Given the description of an element on the screen output the (x, y) to click on. 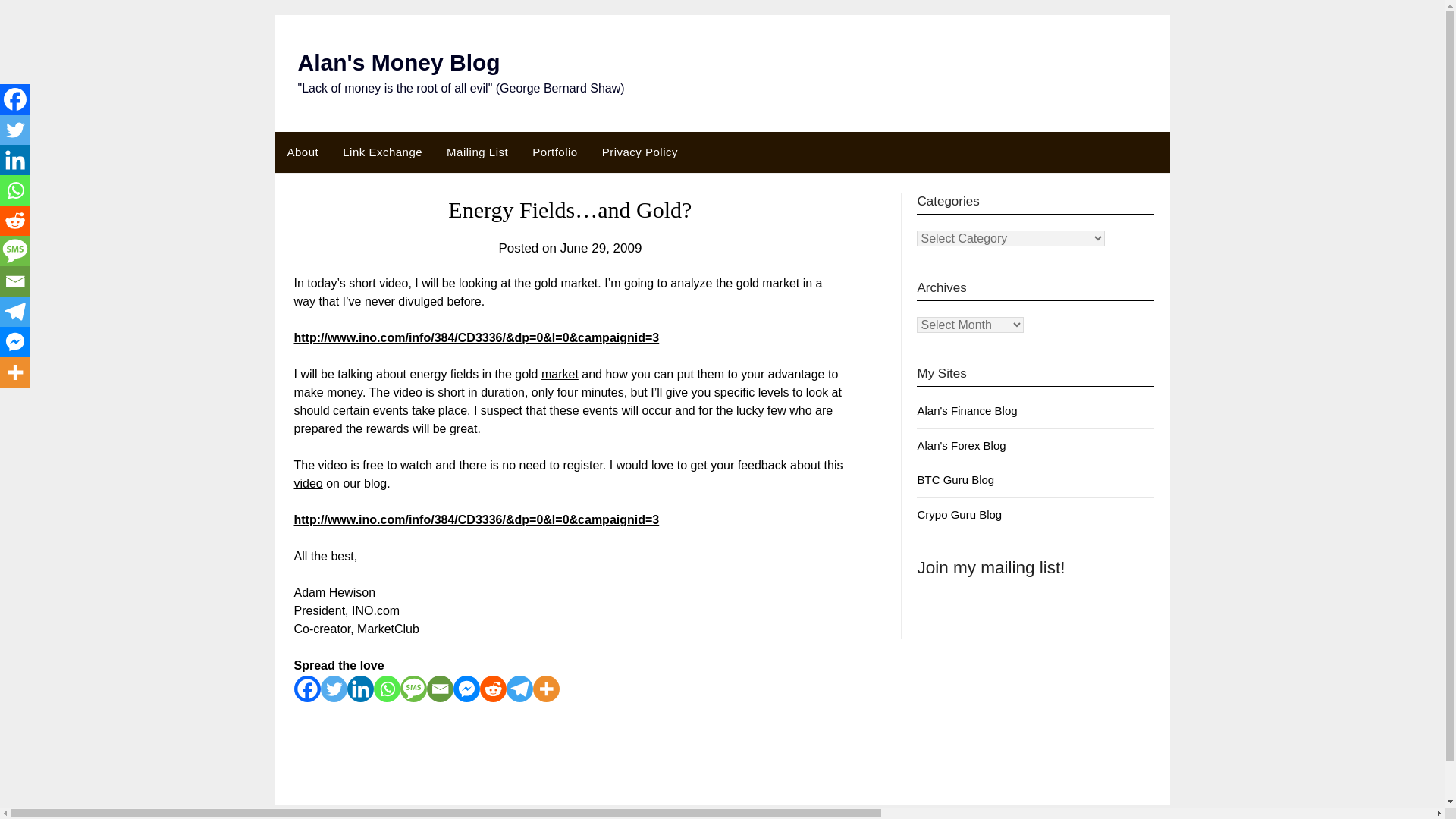
Alan's Finance Blog (966, 410)
BTC Guru Blog (955, 479)
Mailing List (476, 151)
Whatsapp (385, 688)
More (545, 688)
video (308, 482)
Crypo Guru Blog (959, 513)
Reddit (492, 688)
Link Exchange (381, 151)
Linkedin (15, 159)
